Given the description of an element on the screen output the (x, y) to click on. 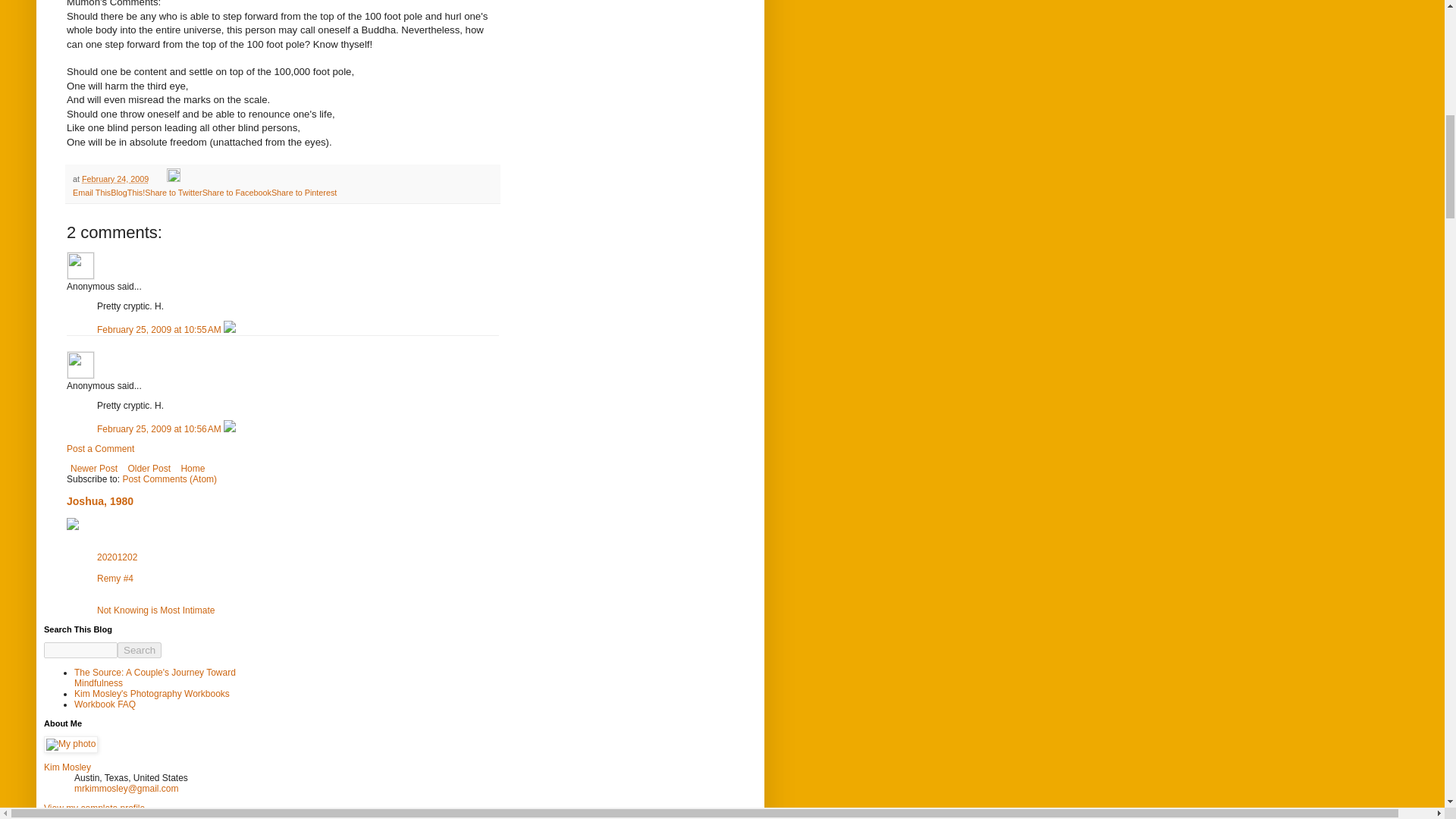
Older Post (148, 468)
BlogThis! (127, 192)
Anonymous (80, 265)
Home (192, 468)
Delete Comment (229, 429)
The Source: A Couple's Journey Toward Mindfulness (154, 677)
20201202 (116, 557)
Search (139, 650)
comment permalink (160, 329)
Kim Mosley's Photography Workbooks (152, 693)
comment permalink (160, 429)
Joshua, 1980 (99, 500)
Kim Mosley (66, 767)
Search (139, 650)
